Given the description of an element on the screen output the (x, y) to click on. 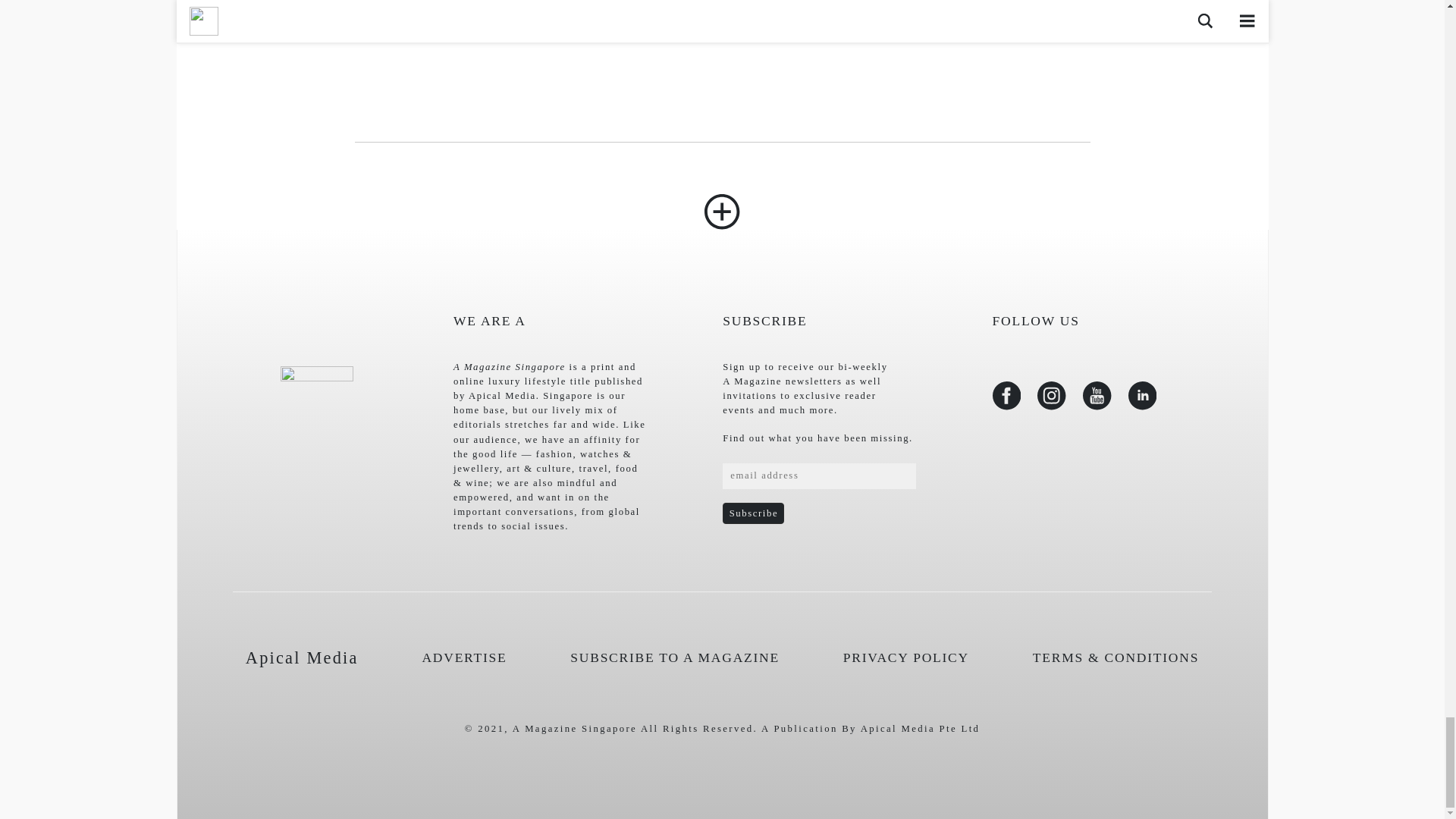
PRIVACY POLICY (906, 658)
Subscribe (753, 513)
SUBSCRIBE TO A MAGAZINE (674, 658)
ADVERTISE (464, 658)
Subscribe (753, 513)
